Given the description of an element on the screen output the (x, y) to click on. 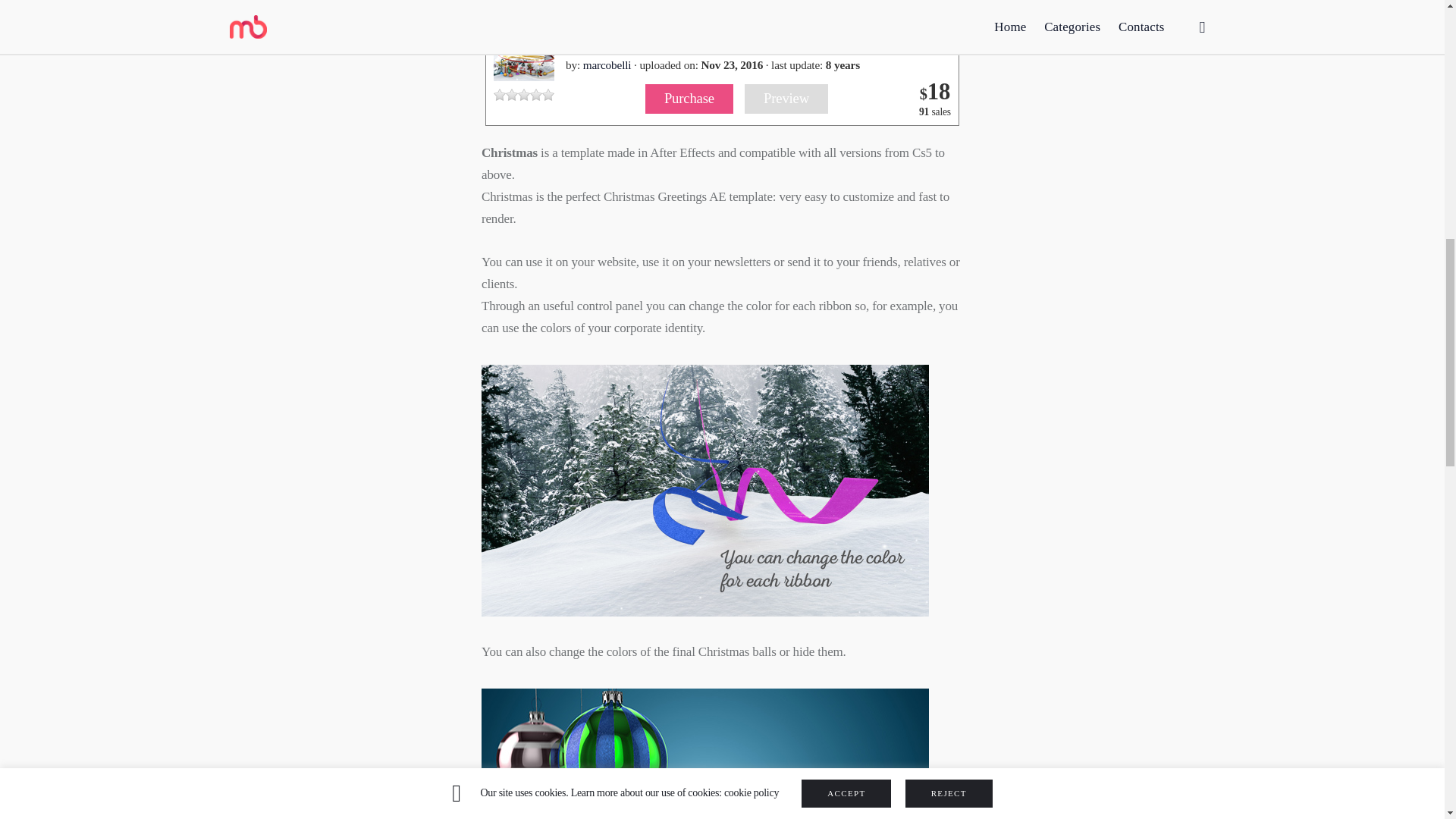
0 stars (523, 94)
